Given the description of an element on the screen output the (x, y) to click on. 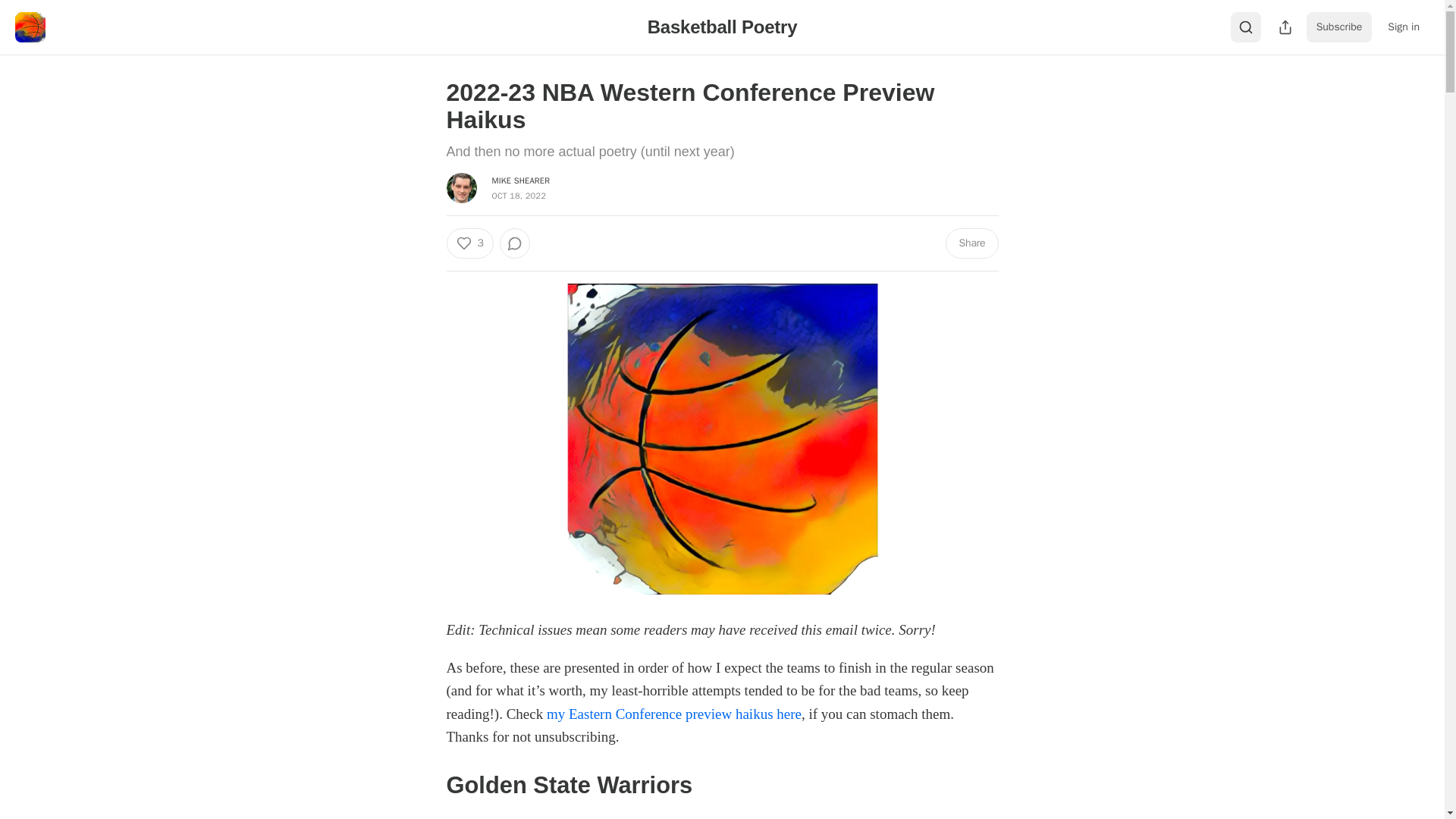
Share (970, 243)
my Eastern Conference preview haikus here (674, 713)
Basketball Poetry (722, 26)
Subscribe (1339, 27)
Sign in (1403, 27)
3 (469, 243)
MIKE SHEARER (521, 180)
